Given the description of an element on the screen output the (x, y) to click on. 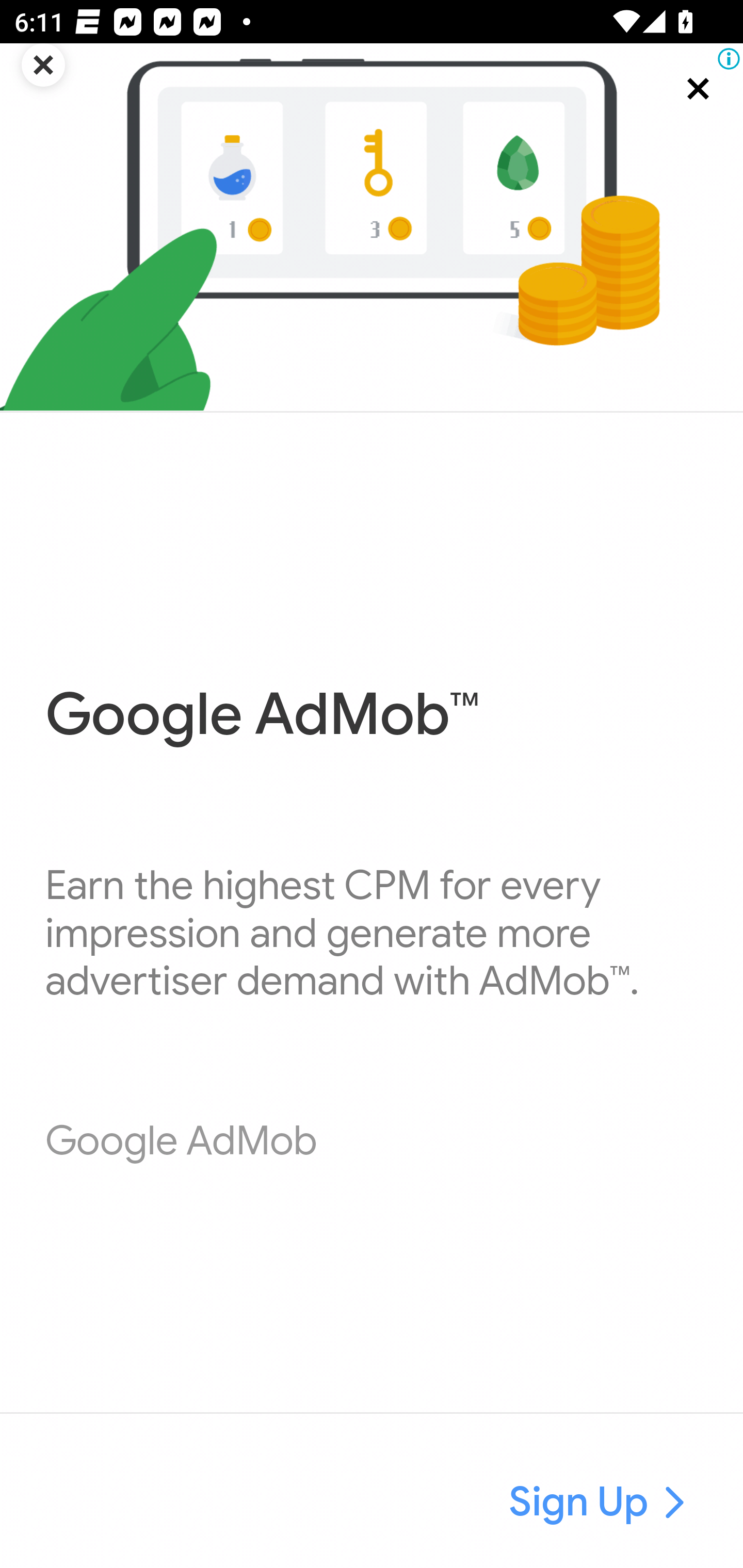
Interstitial close button (679, 106)
Google AdMob™ (261, 714)
Google AdMob (180, 1141)
Sign Up (578, 1502)
